Given the description of an element on the screen output the (x, y) to click on. 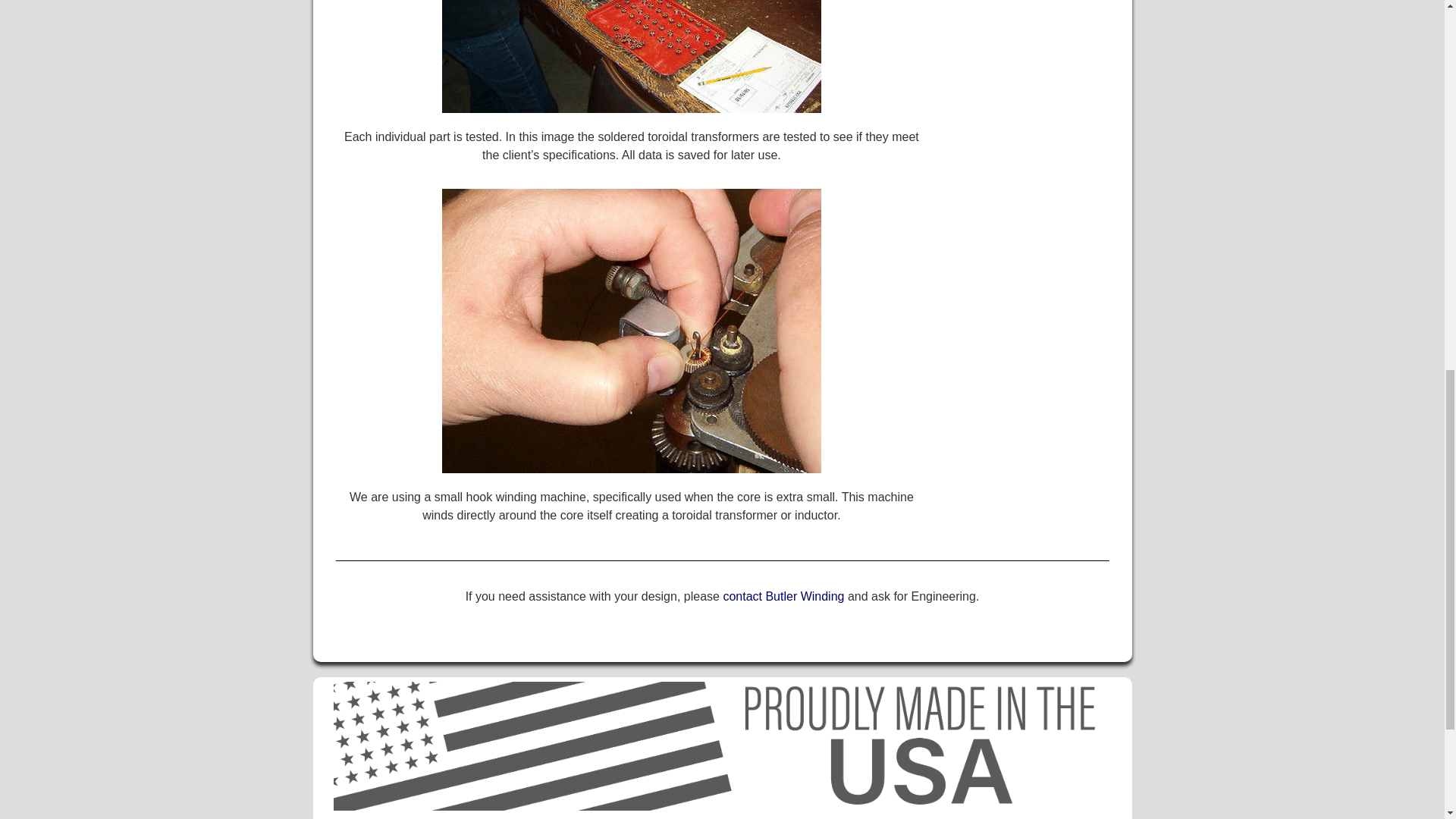
contact Butler Winding (783, 595)
